Given the description of an element on the screen output the (x, y) to click on. 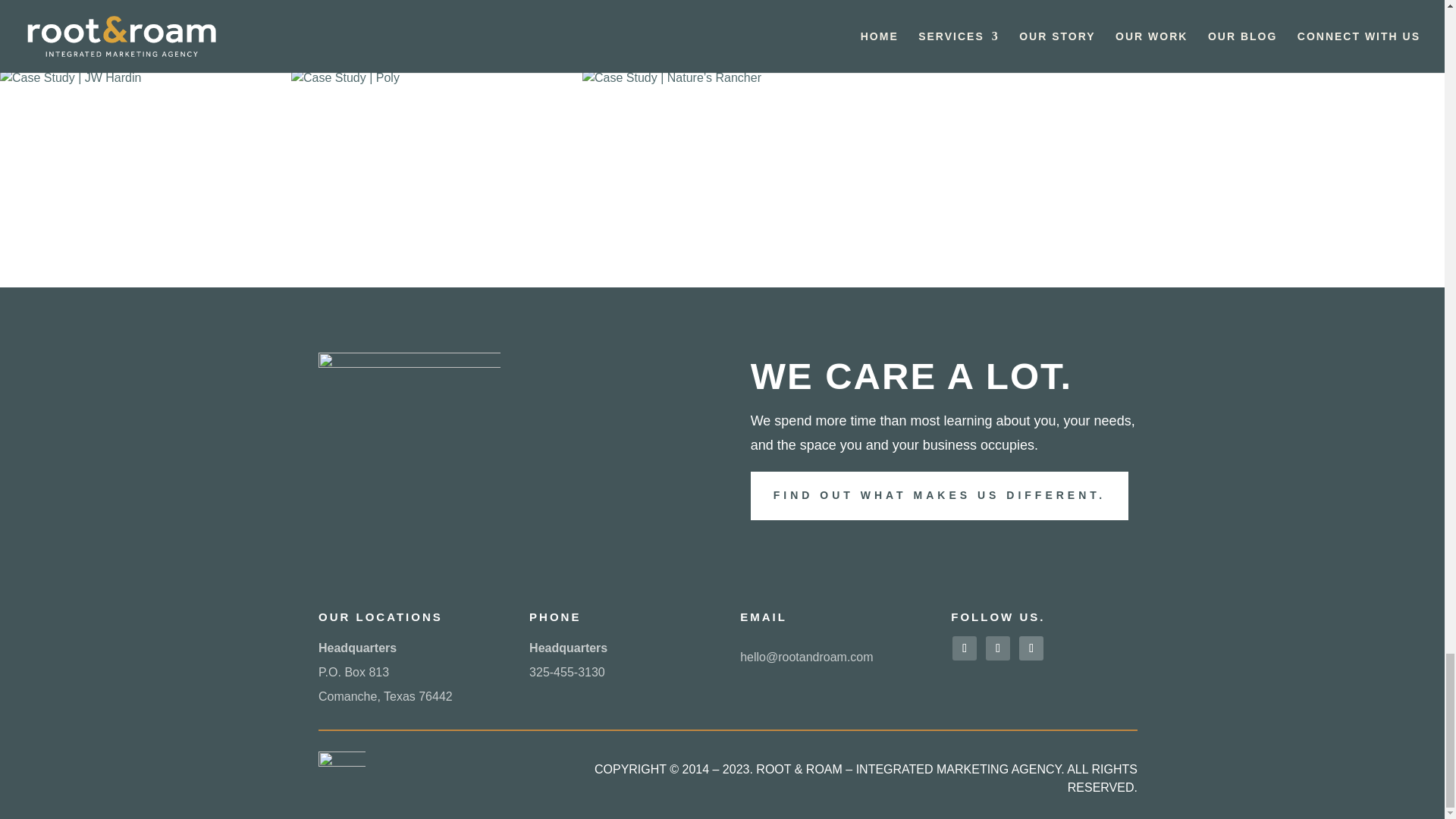
Follow on Facebook (964, 648)
footer-bug (341, 774)
Follow on Instagram (997, 648)
rr-logo-white (409, 400)
Follow on LinkedIn (1031, 648)
